Given the description of an element on the screen output the (x, y) to click on. 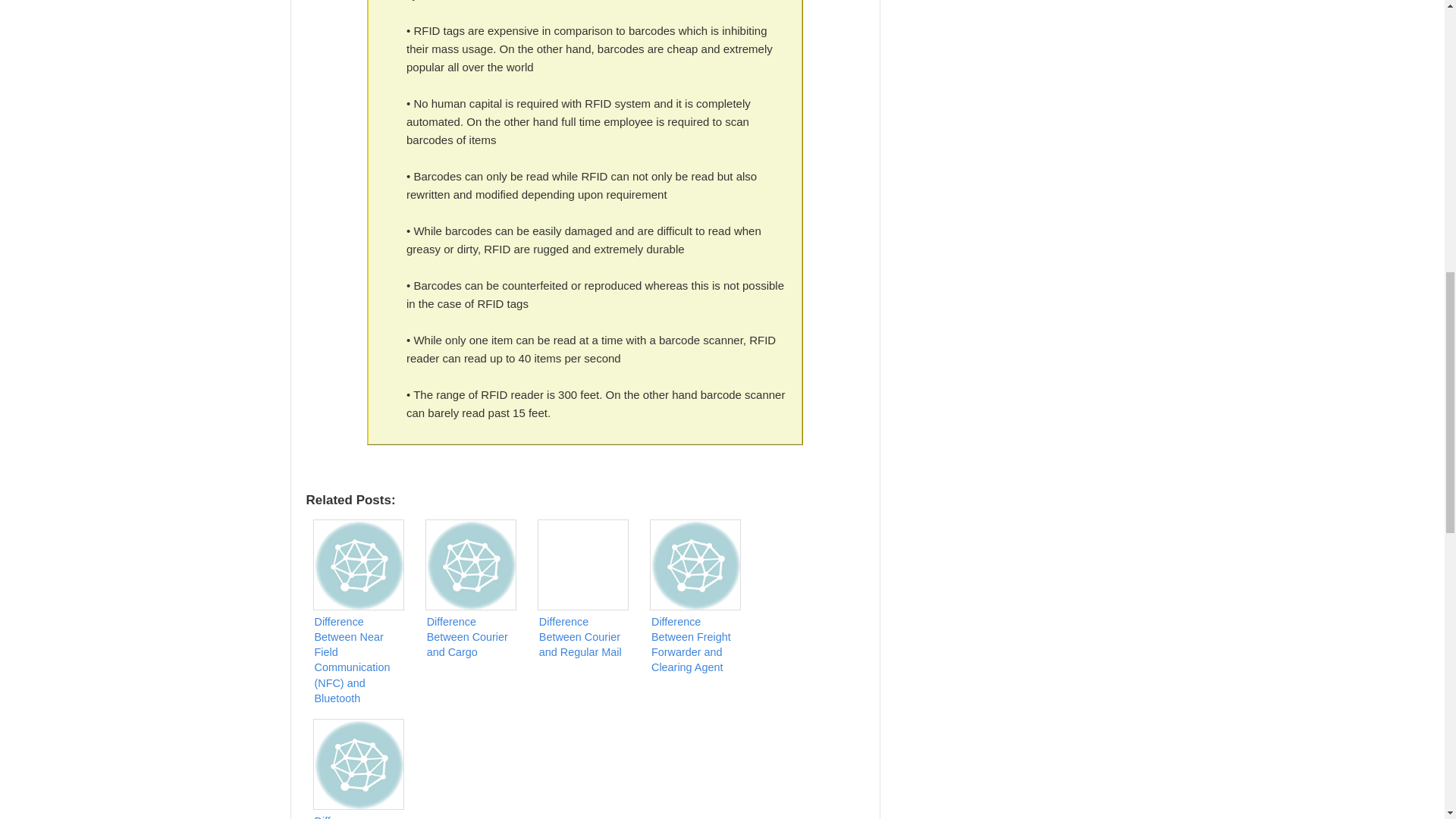
Difference Between Sourcing and Procurement (361, 766)
Difference Between Sourcing and Procurement (361, 766)
Difference Between Courier and Regular Mail 1 (582, 564)
